Given the description of an element on the screen output the (x, y) to click on. 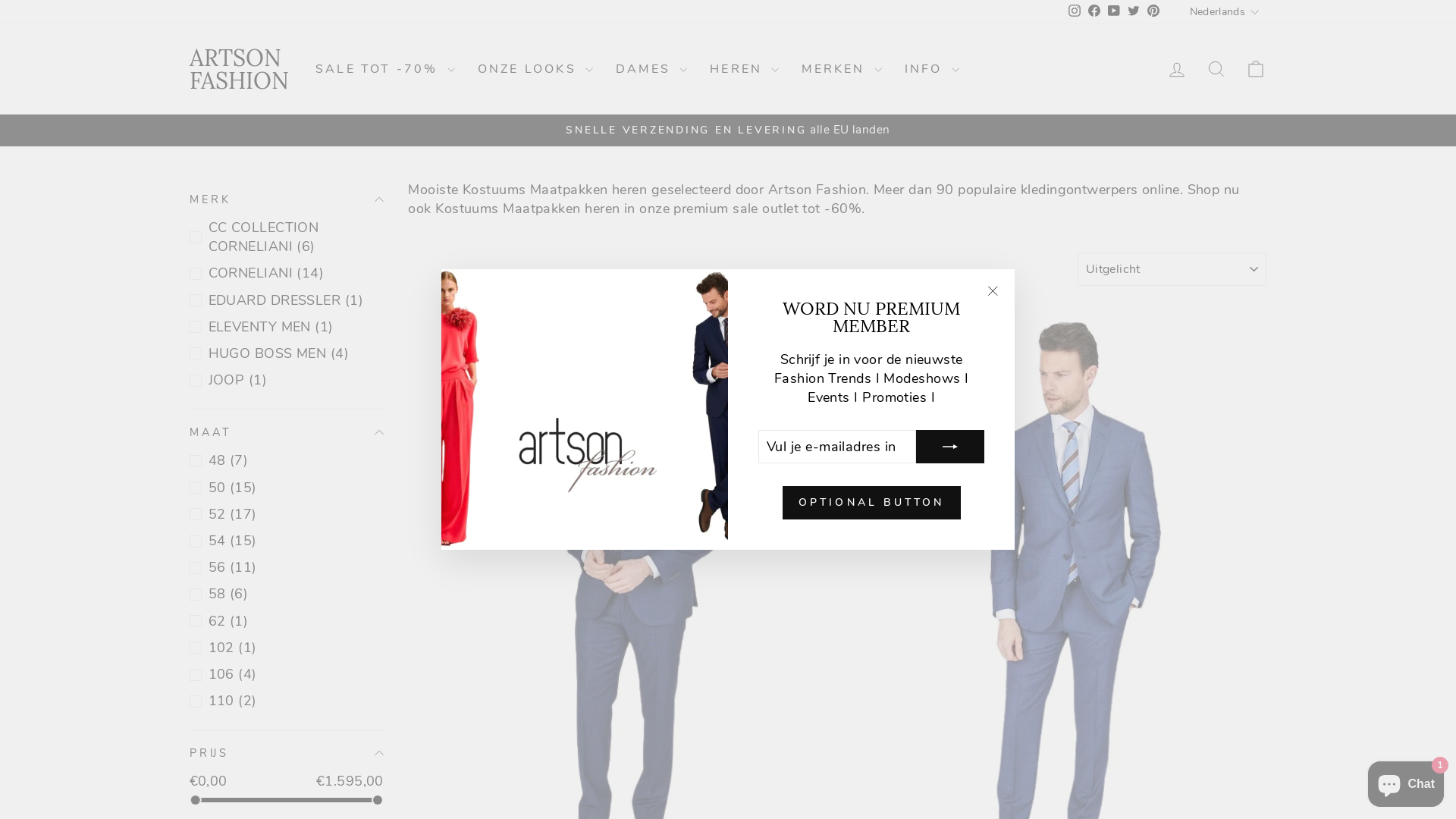
twitter
Twitter Element type: text (1133, 11)
Nederlands Element type: text (1226, 11)
Facebook Element type: text (1094, 11)
Pinterest Element type: text (1153, 11)
ICON-BAG-MINIMAL
WINKELWAGEN Element type: text (1255, 69)
PRIJS Element type: text (286, 752)
Onlinewinkel-chat van Shopify Element type: hover (1405, 780)
MAAT Element type: text (286, 432)
ONTDEK ONZE PROMOTIESSALE OUTLET -60% >> Element type: text (727, 130)
ICON-SEARCH
ZOEKOPDRACHT Element type: text (1216, 69)
instagram
Instagram Element type: text (1074, 11)
MERK Element type: text (286, 199)
ACCOUNT
LOG IN Element type: text (1176, 69)
icon-X
"Sluiten (esc)" Element type: text (992, 290)
ARTSON FASHION Element type: text (238, 68)
YouTube Element type: text (1113, 11)
OPTIONAL BUTTON Element type: text (871, 502)
